Given the description of an element on the screen output the (x, y) to click on. 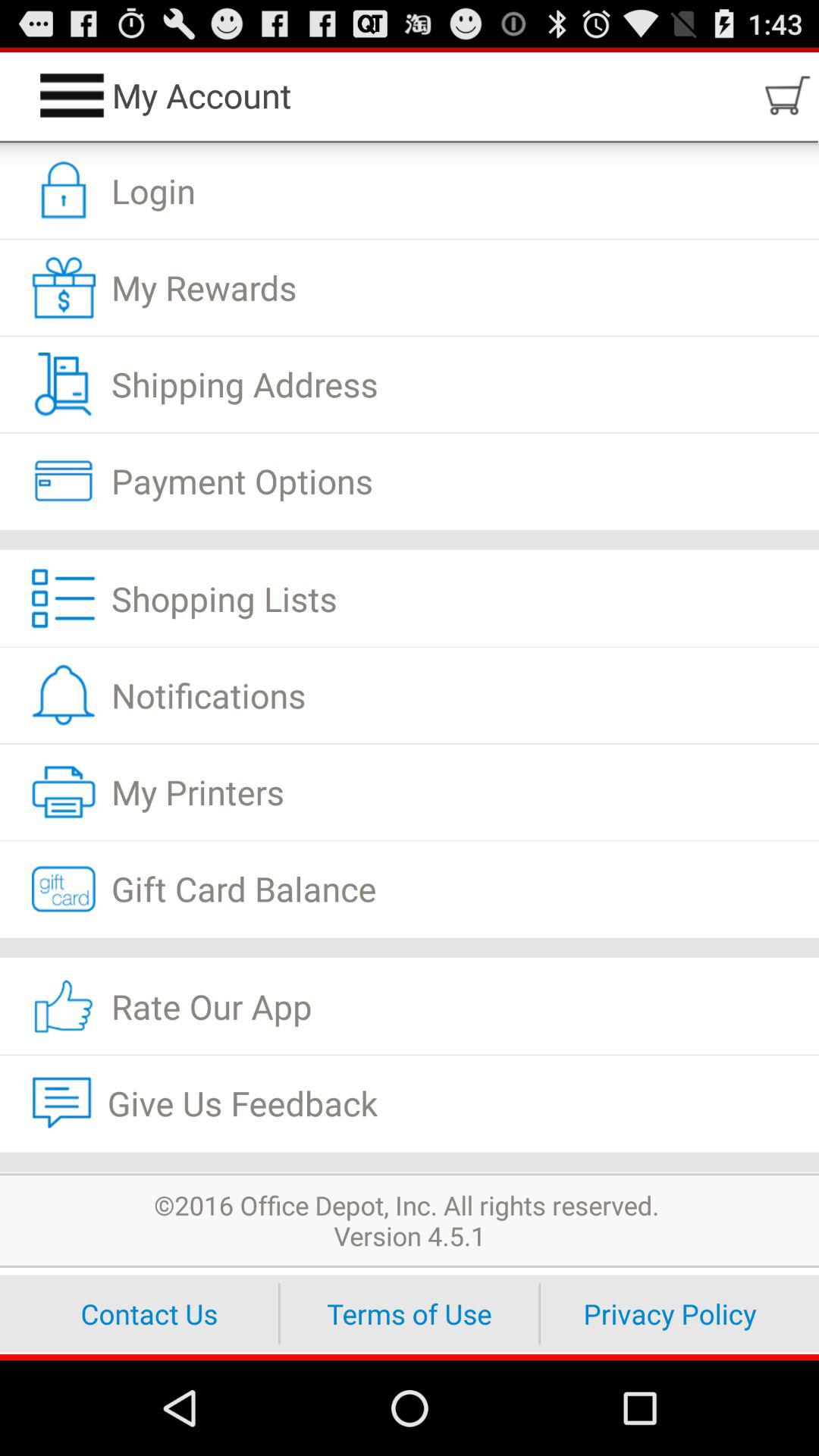
click app below the 2016 office depot app (409, 1313)
